Given the description of an element on the screen output the (x, y) to click on. 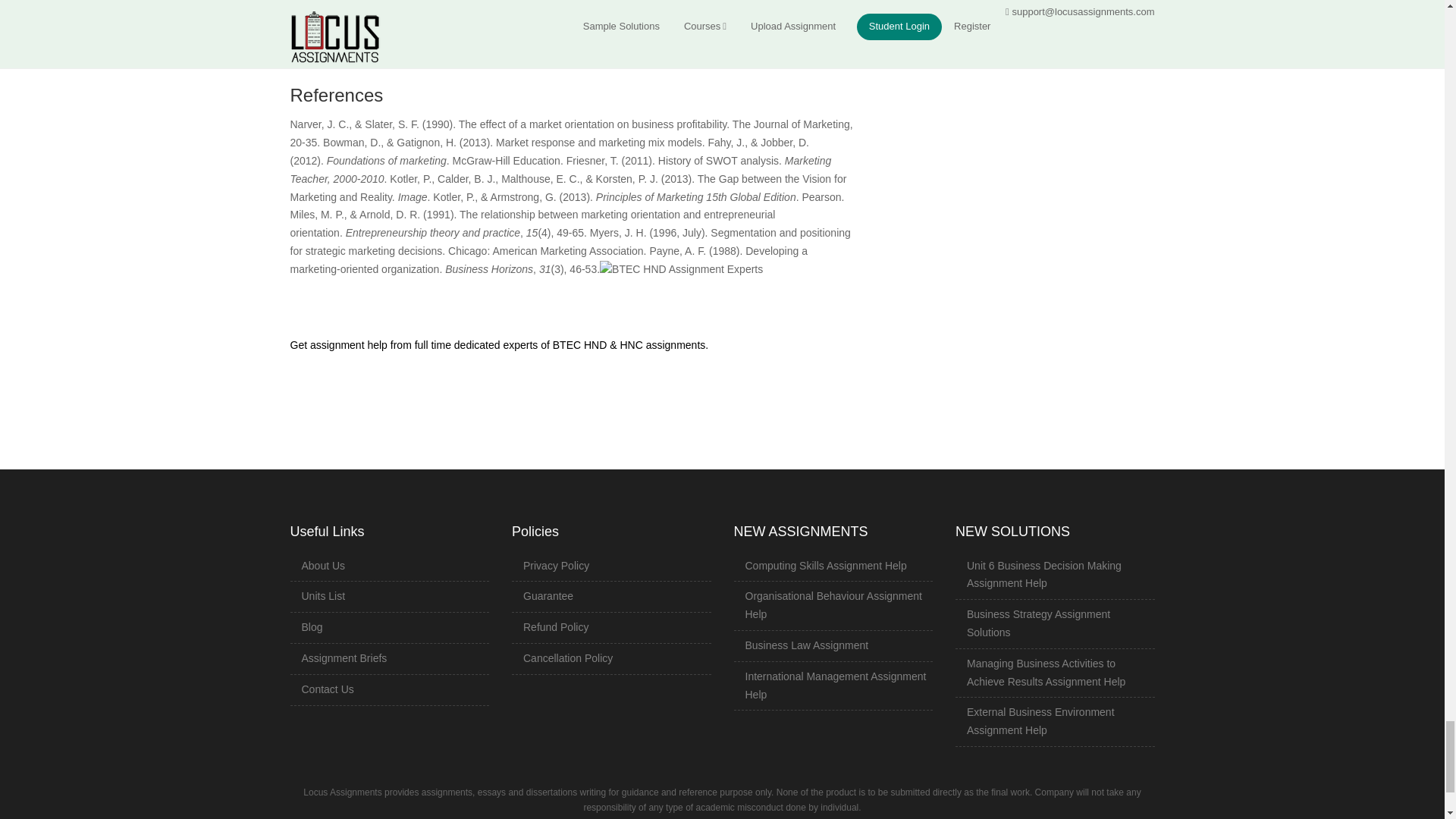
Units (323, 595)
About Us (323, 565)
Assignments (344, 657)
Contact Us (327, 689)
Blog (312, 626)
